Given the description of an element on the screen output the (x, y) to click on. 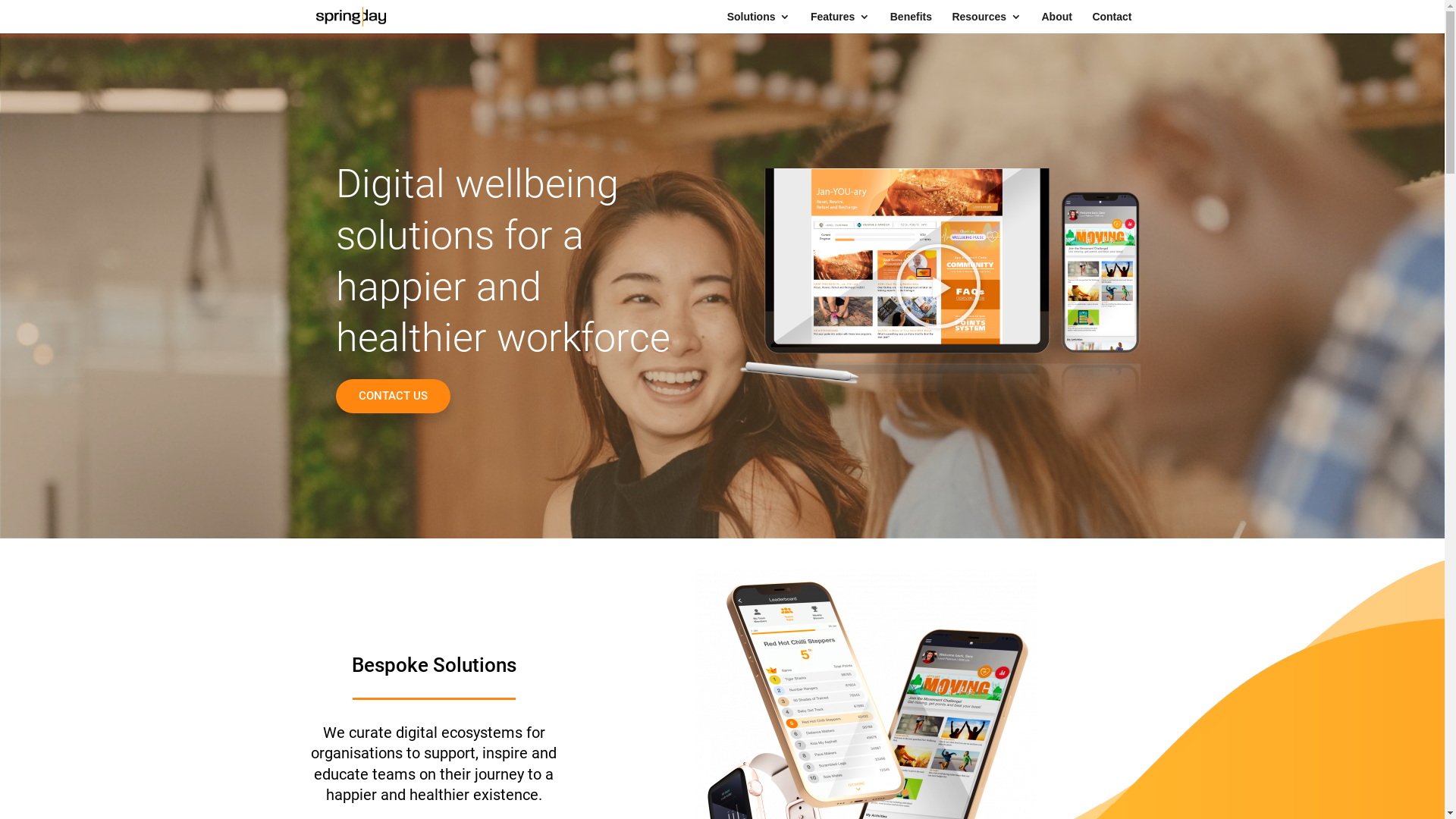
About Element type: text (1056, 22)
Benefits Element type: text (910, 22)
Solutions Element type: text (758, 22)
CONTACT US Element type: text (392, 396)
Features Element type: text (839, 22)
Resources Element type: text (986, 22)
Contact Element type: text (1111, 22)
